Given the description of an element on the screen output the (x, y) to click on. 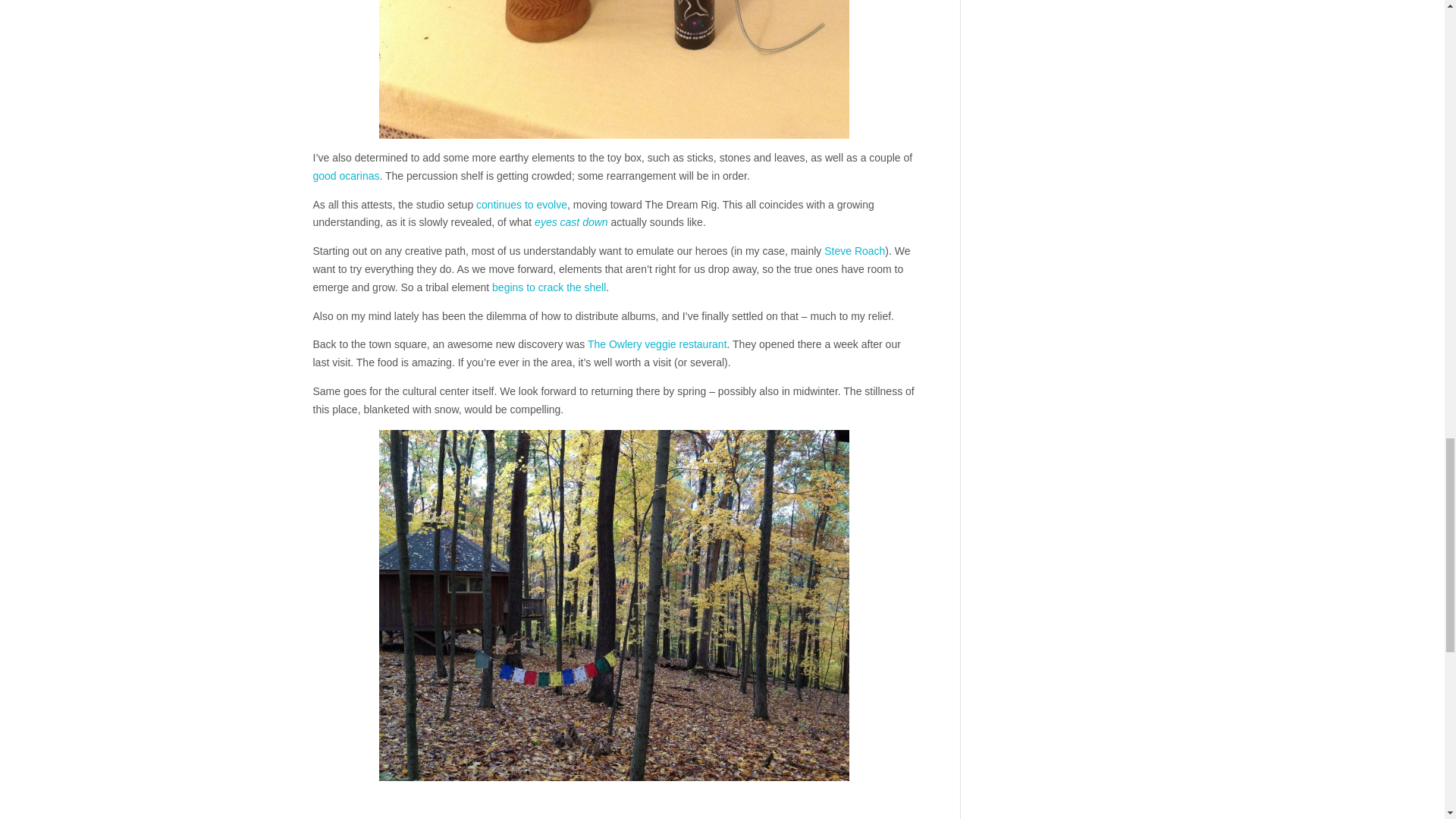
good ocarinas (345, 175)
eyes cast down (571, 222)
Steve Roach (854, 250)
begins to crack the shell (548, 287)
Mini Djembe and Thunder Tube (613, 69)
continues to evolve (521, 204)
The Owlery veggie restaurant (657, 344)
